Given the description of an element on the screen output the (x, y) to click on. 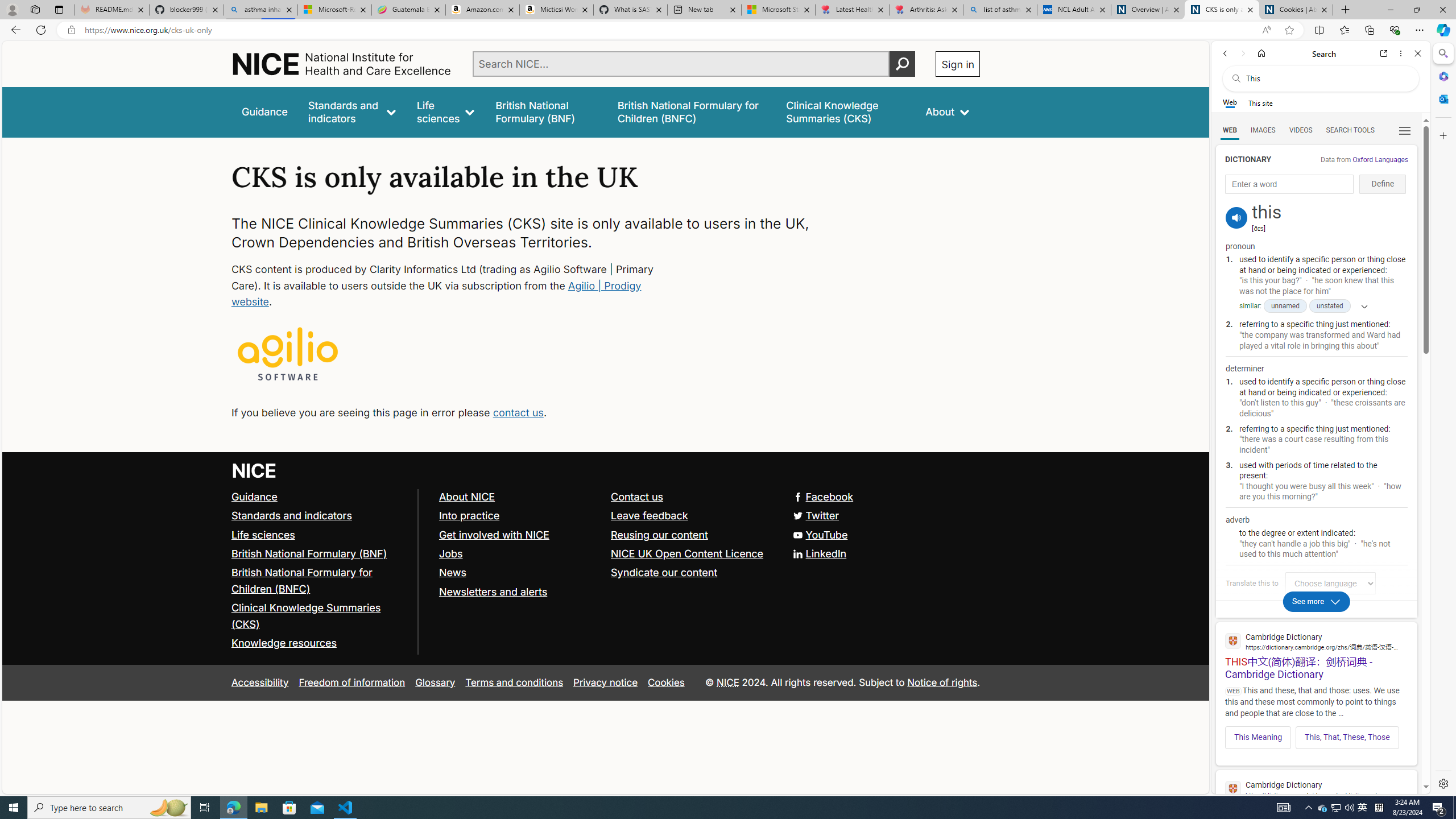
This Meaning (1258, 737)
Get involved with NICE (493, 534)
Twitter (816, 515)
Jobs (450, 553)
Reusing our content (692, 534)
unstated (1329, 305)
Knowledge resources (319, 643)
Facebook (605, 496)
